Given the description of an element on the screen output the (x, y) to click on. 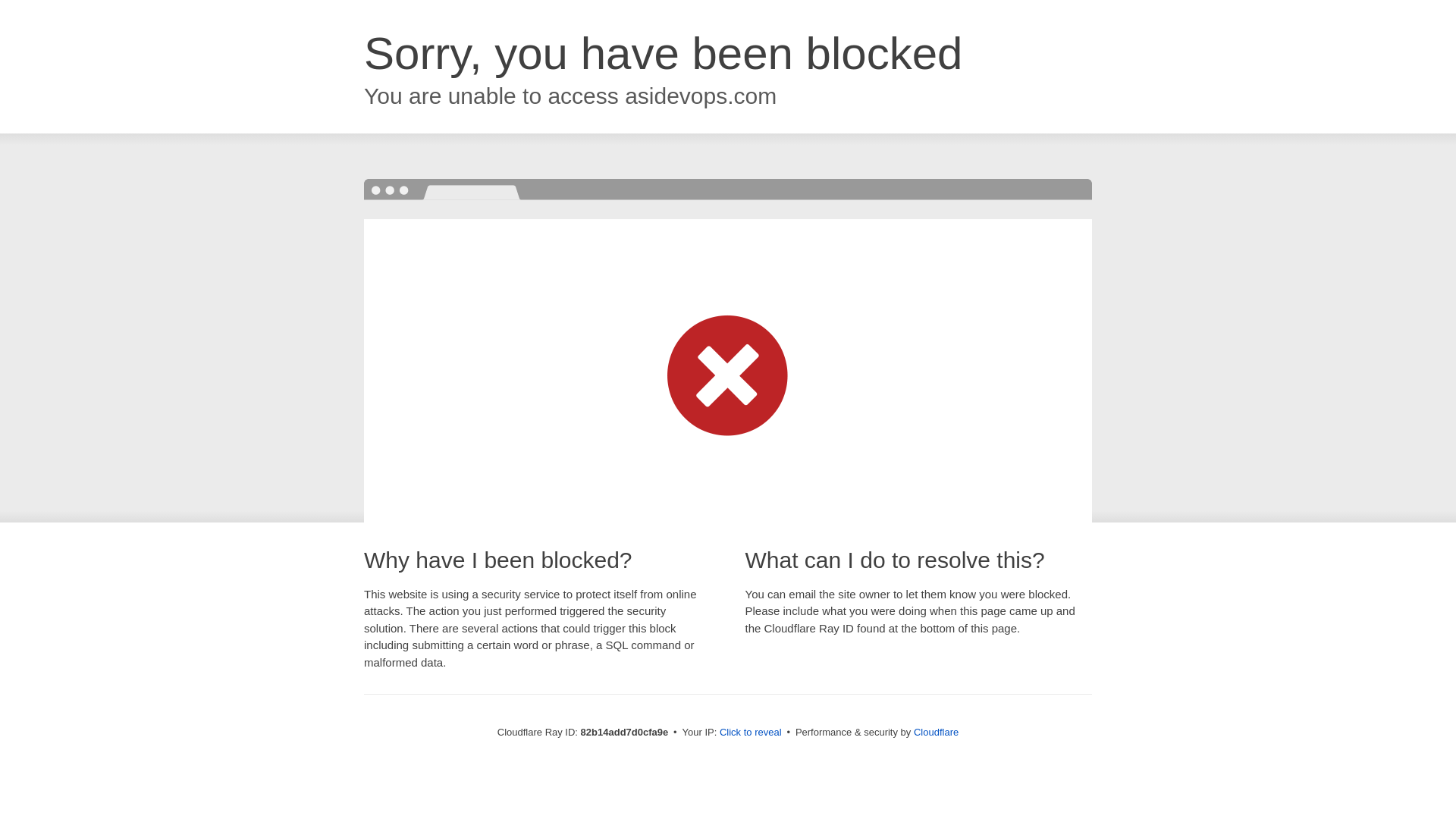
Click to reveal Element type: text (750, 732)
Cloudflare Element type: text (935, 731)
